Given the description of an element on the screen output the (x, y) to click on. 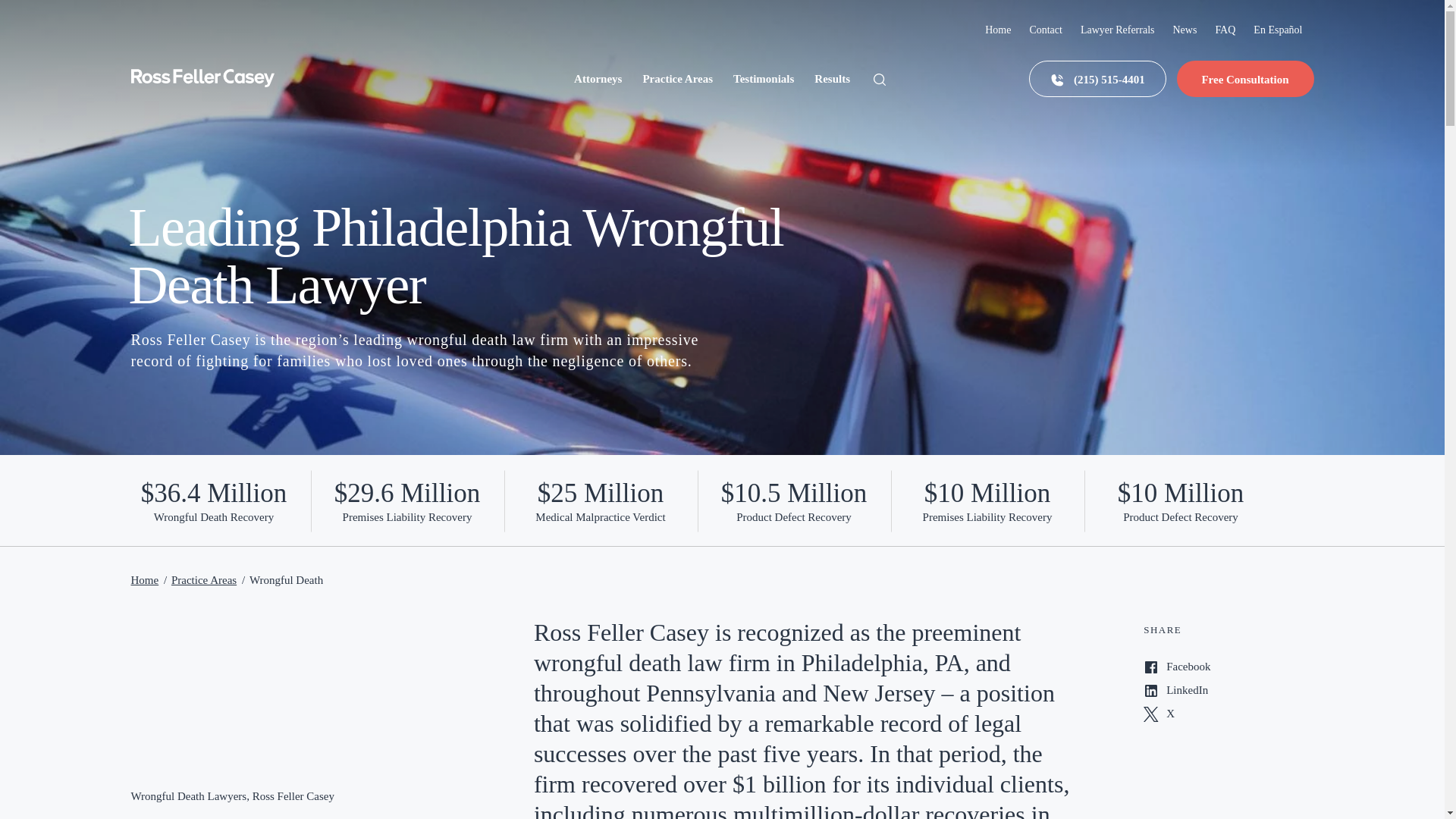
Attorneys (597, 78)
Lawyer Referrals (1117, 29)
Home (997, 29)
Contact (1045, 29)
FAQ (1224, 29)
Testimonials (763, 78)
Practice Areas (677, 78)
Results (831, 78)
News (1184, 29)
Free Consultation (1245, 78)
